Given the description of an element on the screen output the (x, y) to click on. 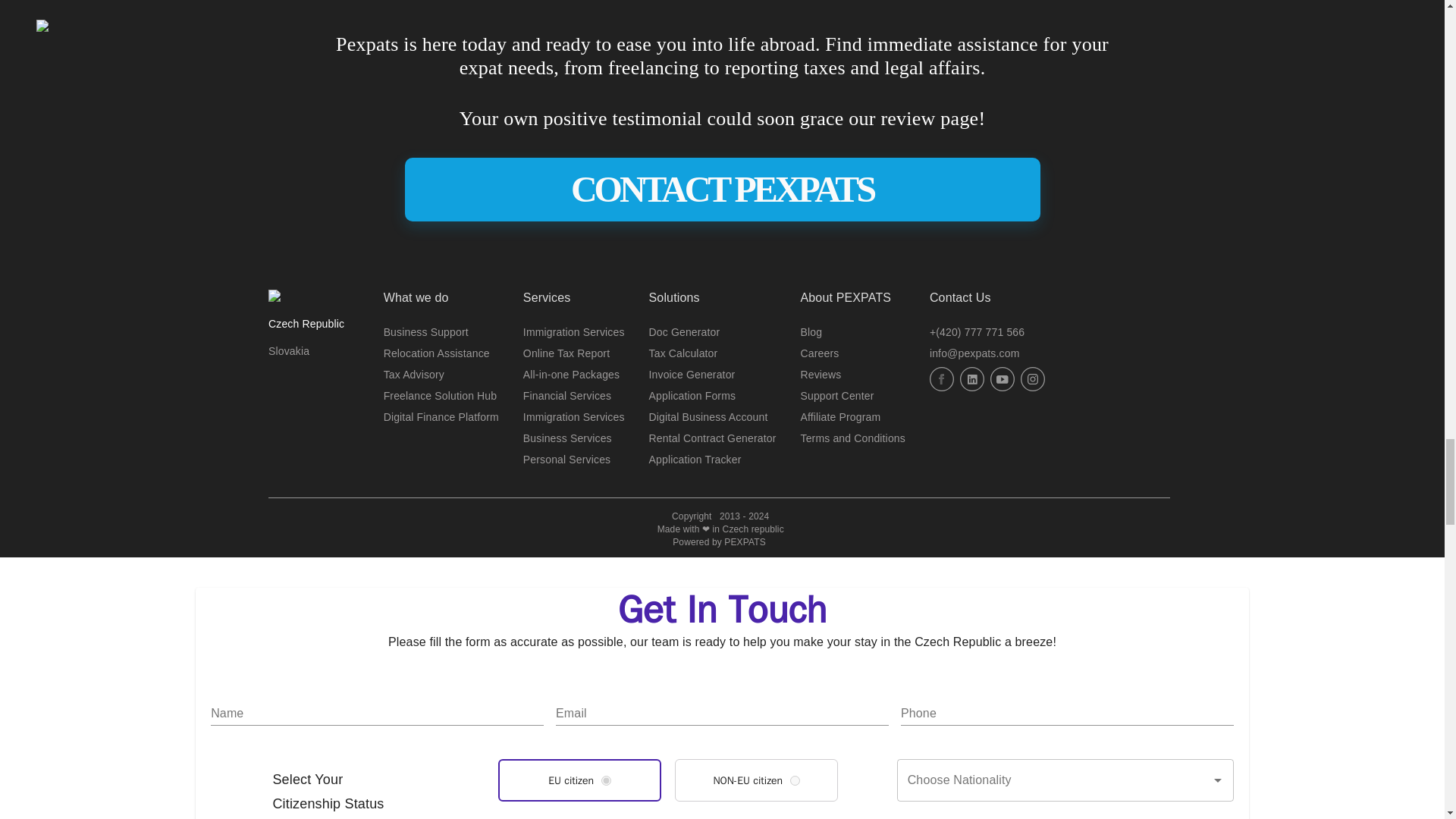
Slovakia (287, 350)
Support Center (837, 395)
Affiliate Program (840, 417)
Tax Advisory (414, 374)
Business Services (566, 437)
YES (606, 780)
Digital Finance Platform (441, 417)
Relocation Assistance (436, 353)
Application Tracker (695, 459)
Immigration Services (573, 331)
